Given the description of an element on the screen output the (x, y) to click on. 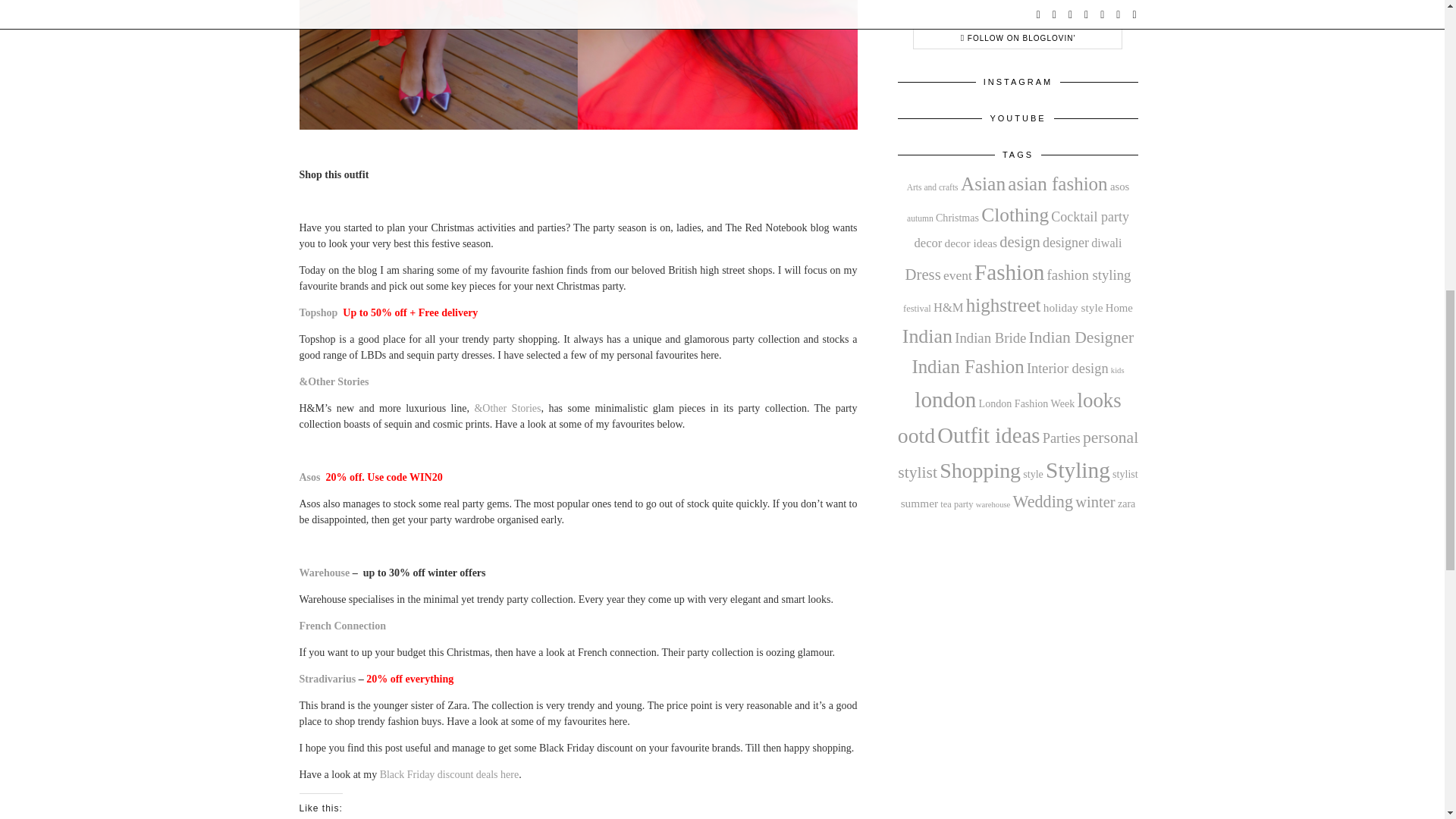
Stradivarius (326, 678)
Warehouse (323, 572)
Black Friday discount deals (438, 774)
here (509, 774)
French Connection (341, 625)
Topshop (317, 312)
Asos (309, 477)
